Given the description of an element on the screen output the (x, y) to click on. 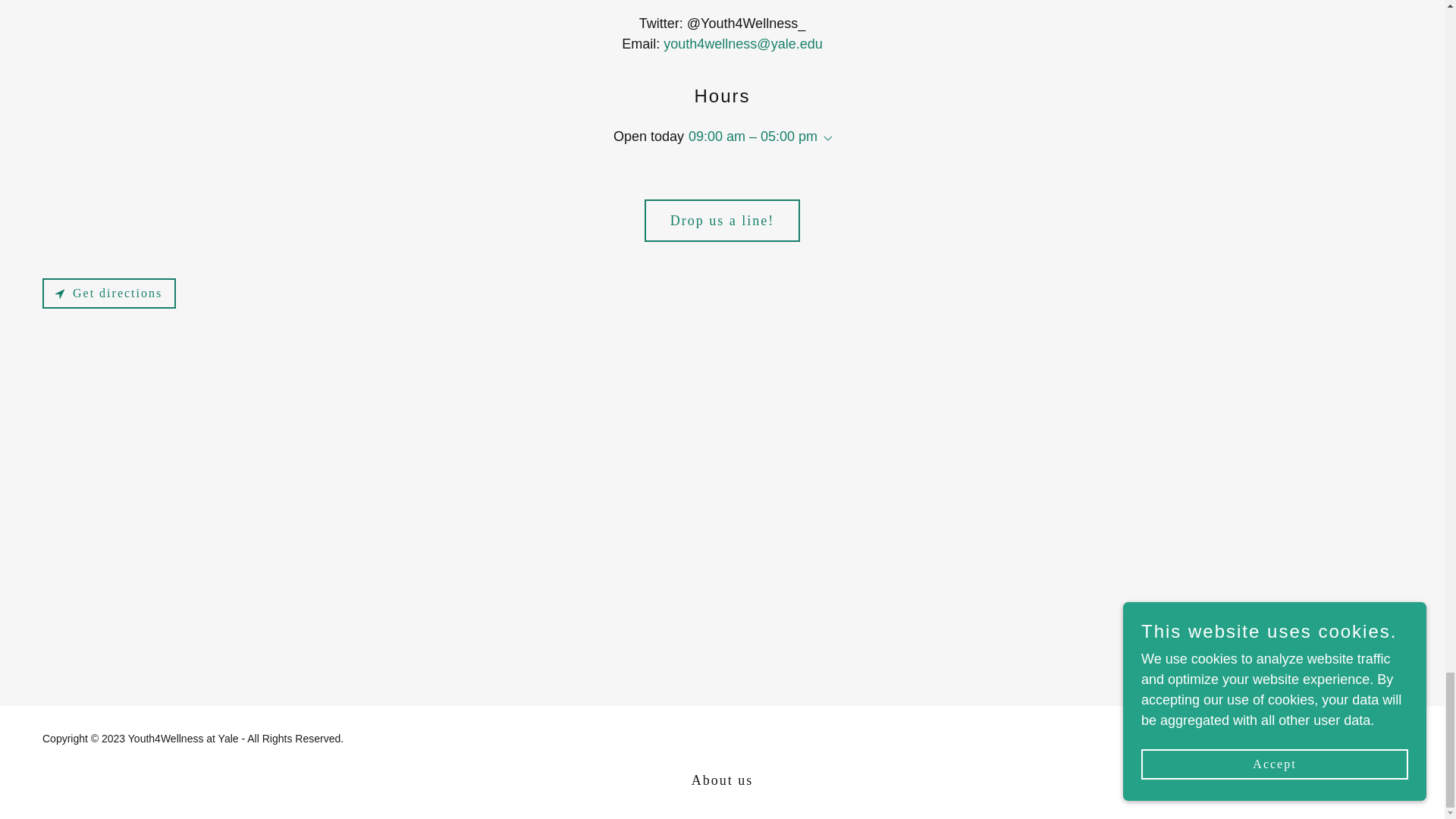
Drop us a line! (722, 220)
